Given the description of an element on the screen output the (x, y) to click on. 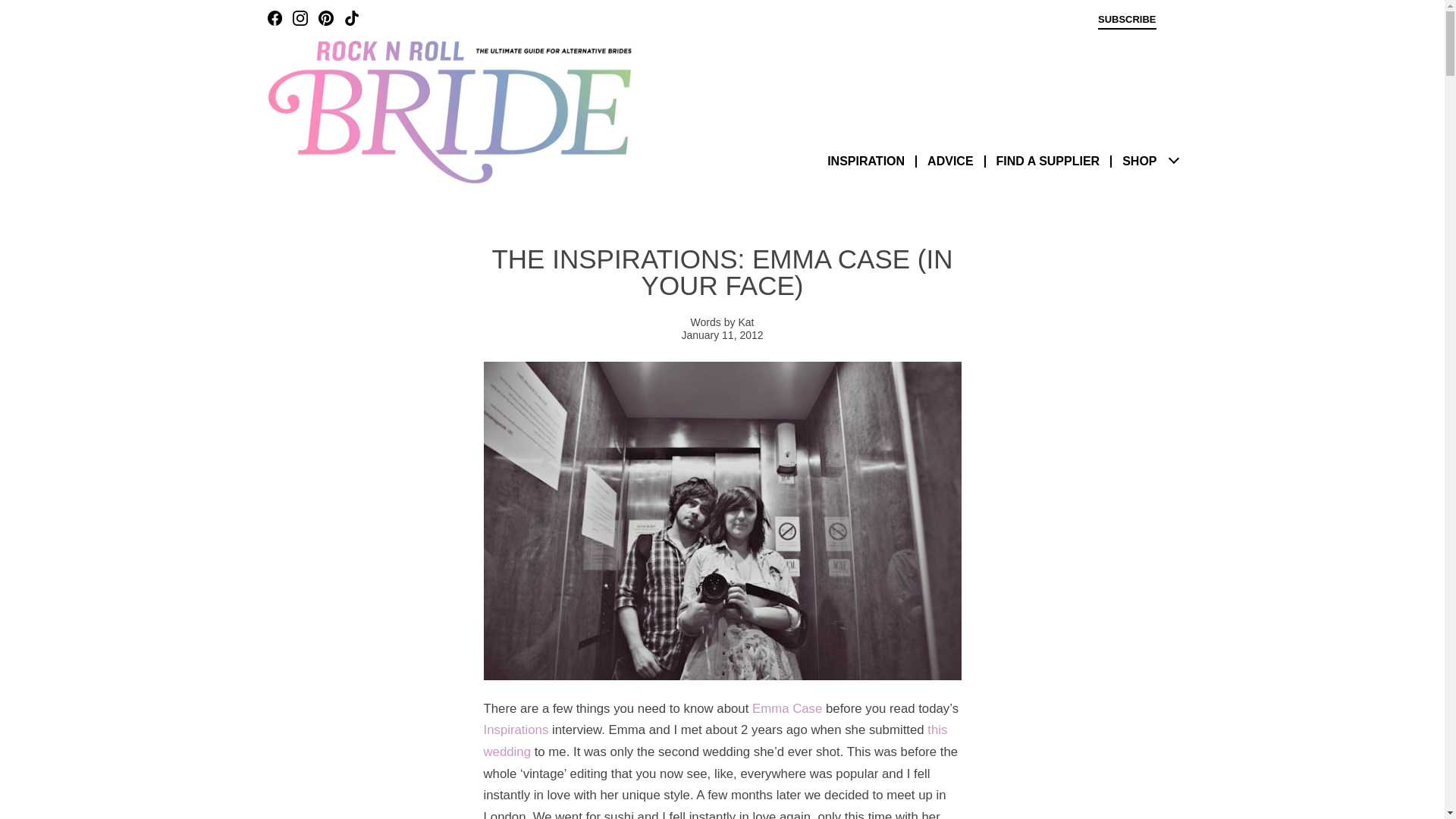
ADVICE (949, 160)
Subscribe (1126, 21)
this wedding (715, 740)
Posts by Kat (746, 322)
Rock n Roll Bride (448, 111)
FIND A SUPPLIER (1047, 160)
Inspirations (515, 729)
Kat (746, 322)
Emma Case (787, 708)
